Given the description of an element on the screen output the (x, y) to click on. 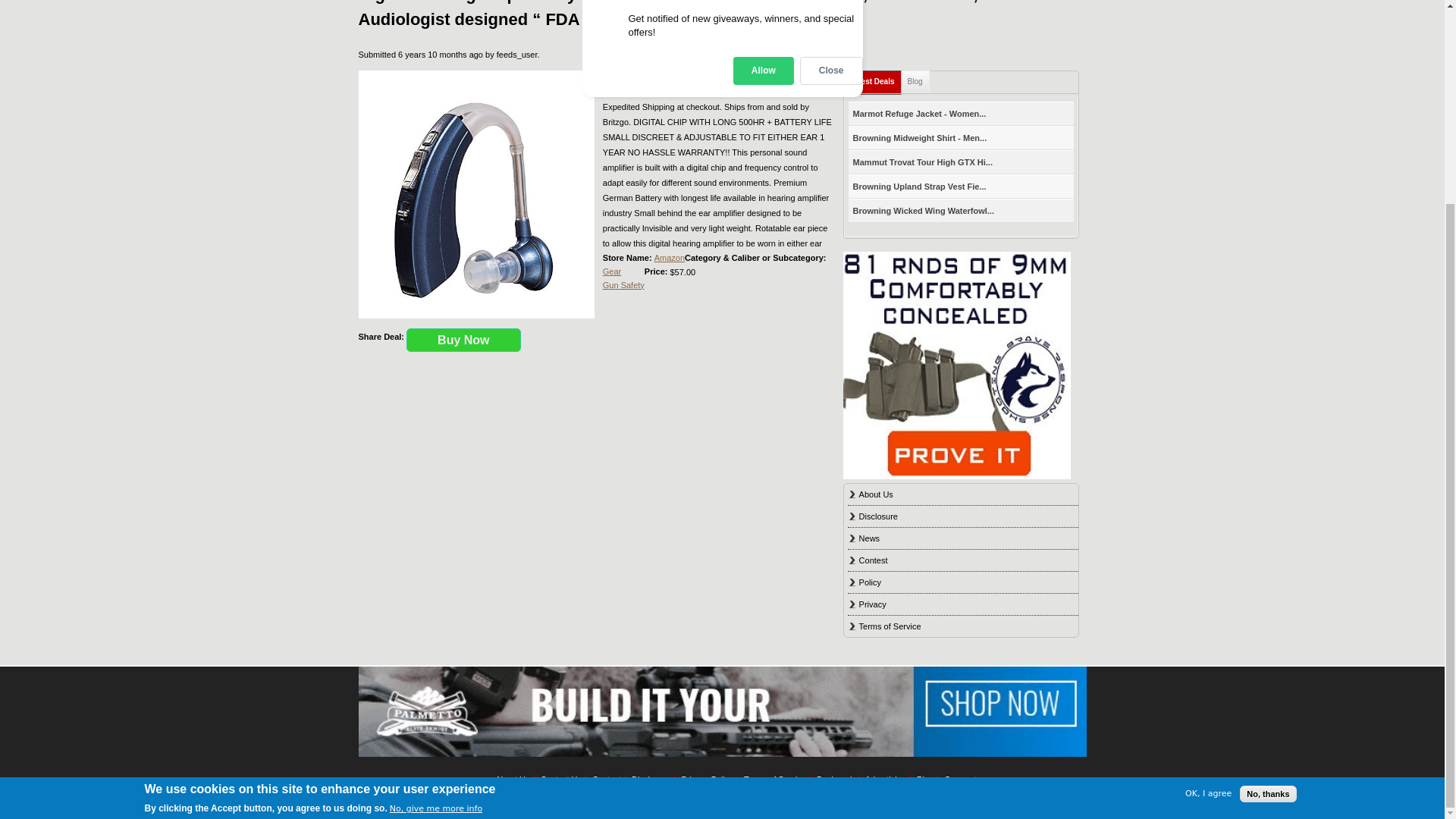
Browning Upland Strap Vest Fie... (919, 186)
Gear (611, 271)
Gun Safety (623, 284)
Browning Wicked Wing Waterfowl... (923, 210)
About Us (876, 493)
Mammut Trovat Tour High GTX Hi... (922, 162)
Browning Midweight Shirt - Men... (919, 137)
Marmot Refuge Jacket - Women... (919, 113)
Amazon (668, 257)
Buy Now (462, 340)
